Given the description of an element on the screen output the (x, y) to click on. 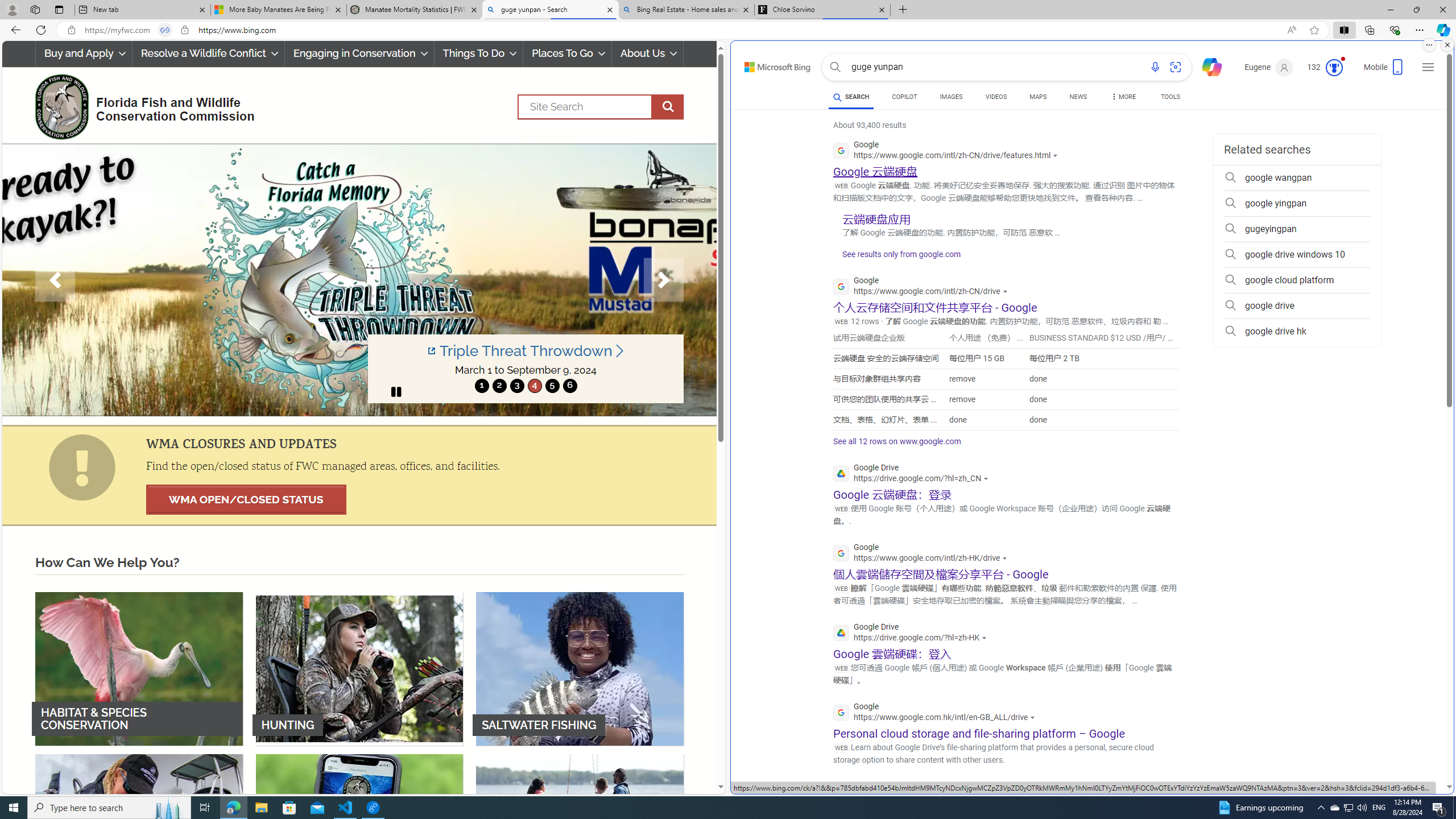
Collections (1369, 29)
3 (516, 385)
Things To Do (477, 53)
Manatee Mortality Statistics | FWC (414, 9)
Split screen (1344, 29)
6 (569, 385)
slider pause button (396, 391)
Global web icon (841, 791)
MAPS (1038, 98)
Back to Bing search (770, 64)
SEARCH (850, 96)
Back (13, 29)
MAPS (1038, 96)
IMAGES (950, 96)
Search button (835, 66)
